Given the description of an element on the screen output the (x, y) to click on. 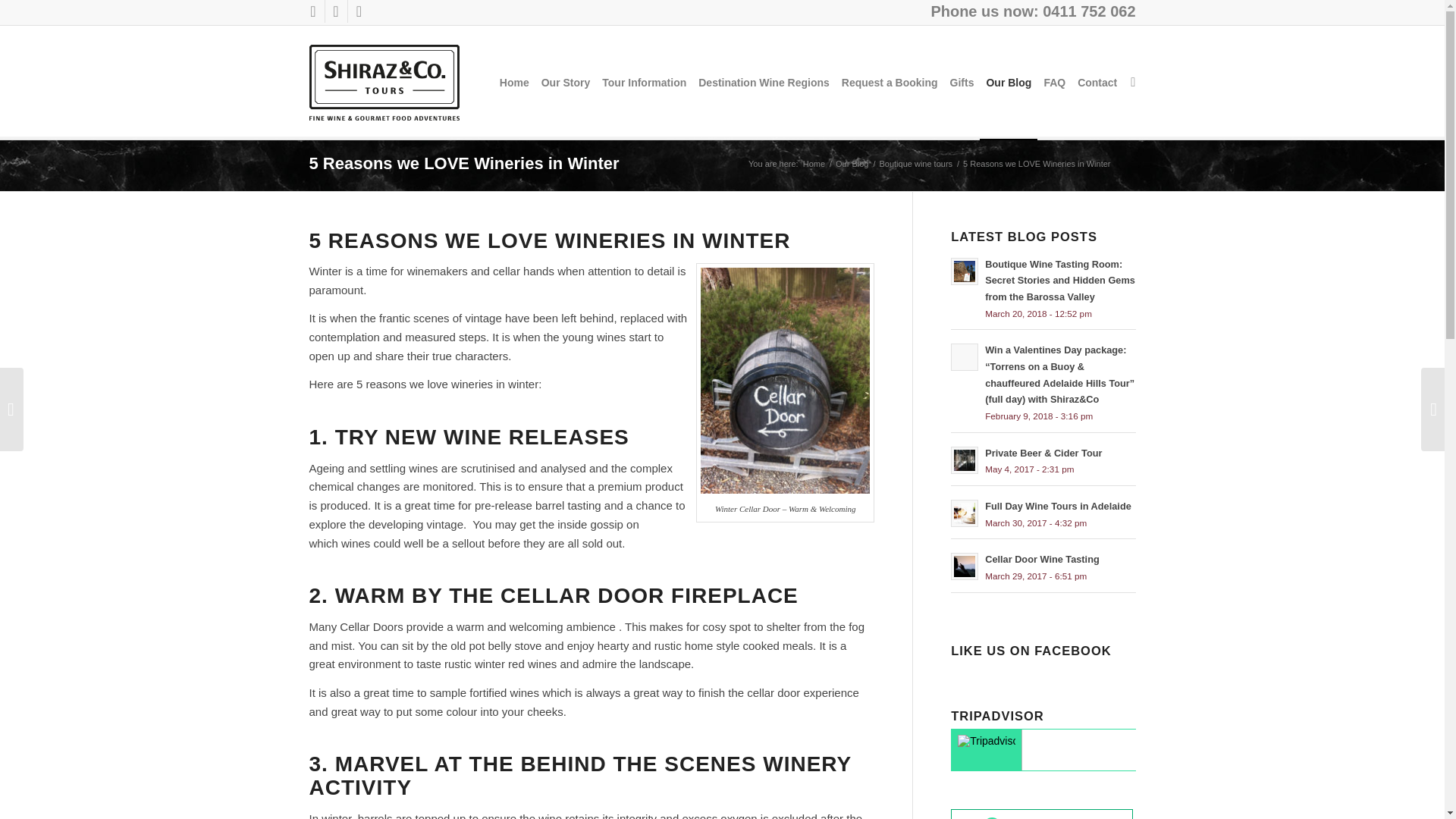
Cellar Door Wine Tasting (1042, 566)
Mail (358, 11)
Full Day Wine Tours in Adelaide (1042, 513)
Permanent Link: 5 Reasons we LOVE Wineries in Winter (464, 162)
Instagram (335, 11)
Facebook (312, 11)
0411 752 062 (1088, 11)
Our Blog (851, 163)
